Given the description of an element on the screen output the (x, y) to click on. 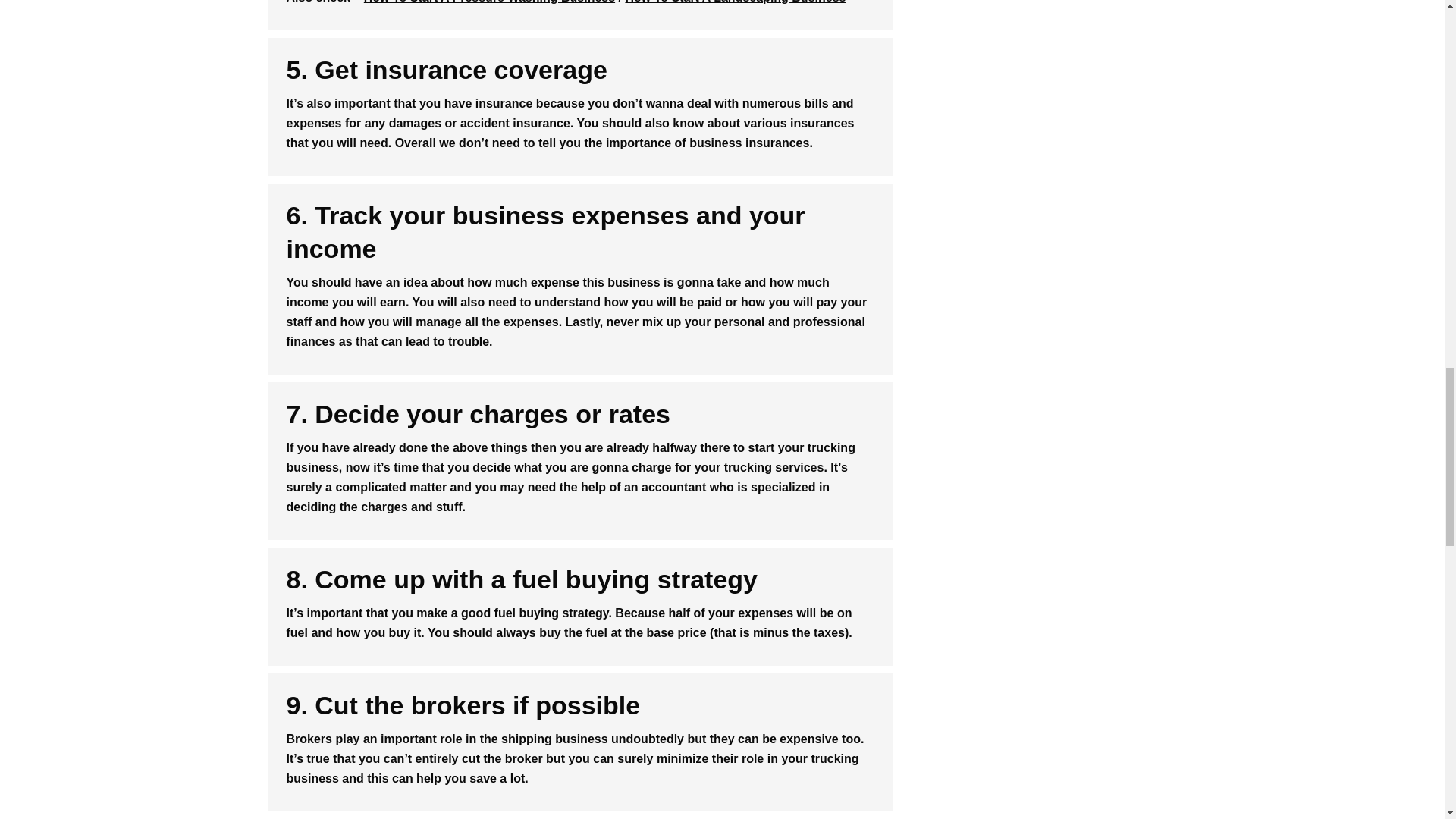
How To Start A Landscaping Business (734, 2)
How To Start A Pressure Washing Business (489, 2)
